Given the description of an element on the screen output the (x, y) to click on. 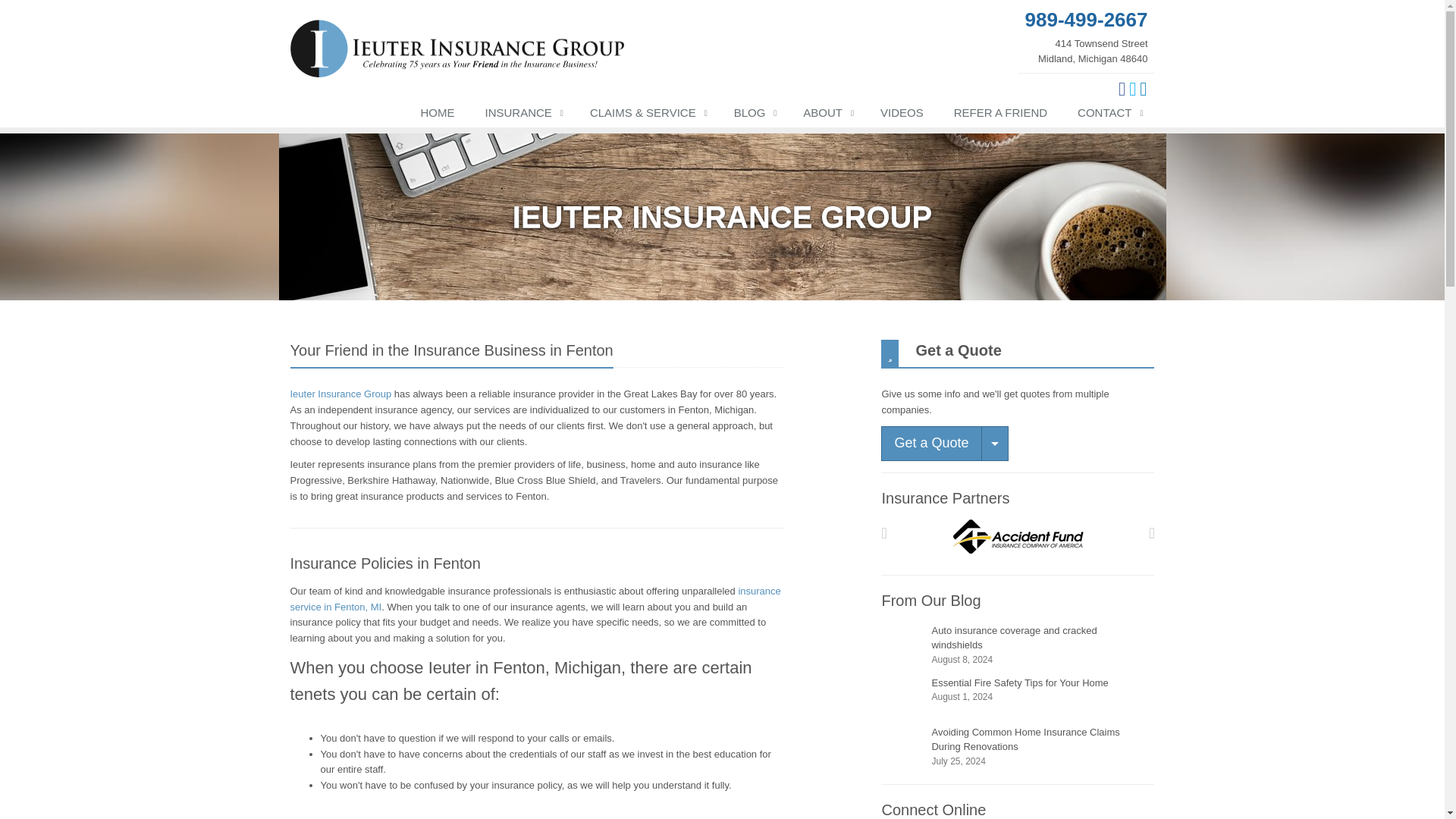
INSURANCE (1085, 35)
HOME (522, 115)
